Given the description of an element on the screen output the (x, y) to click on. 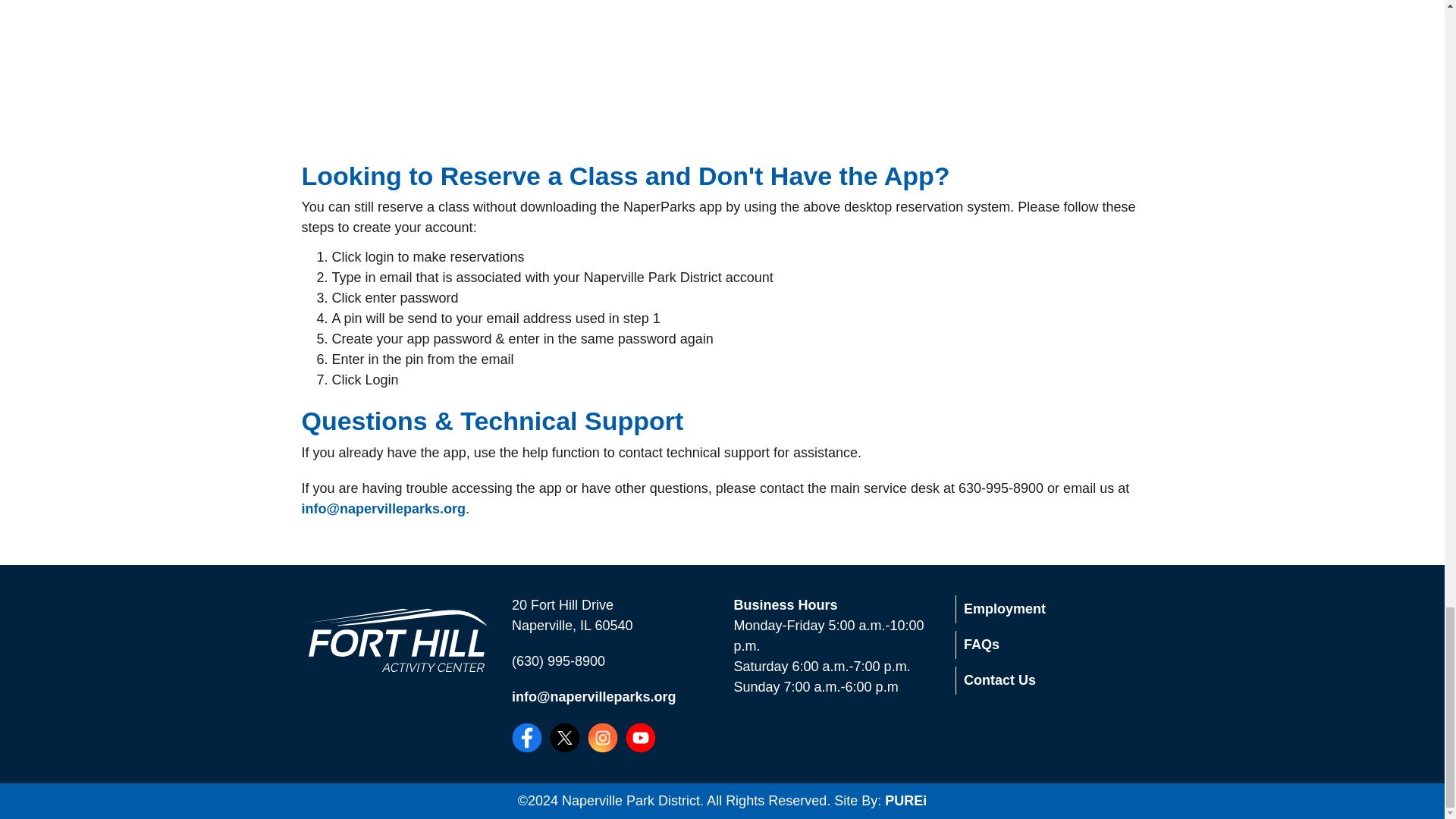
Purei (905, 800)
